Given the description of an element on the screen output the (x, y) to click on. 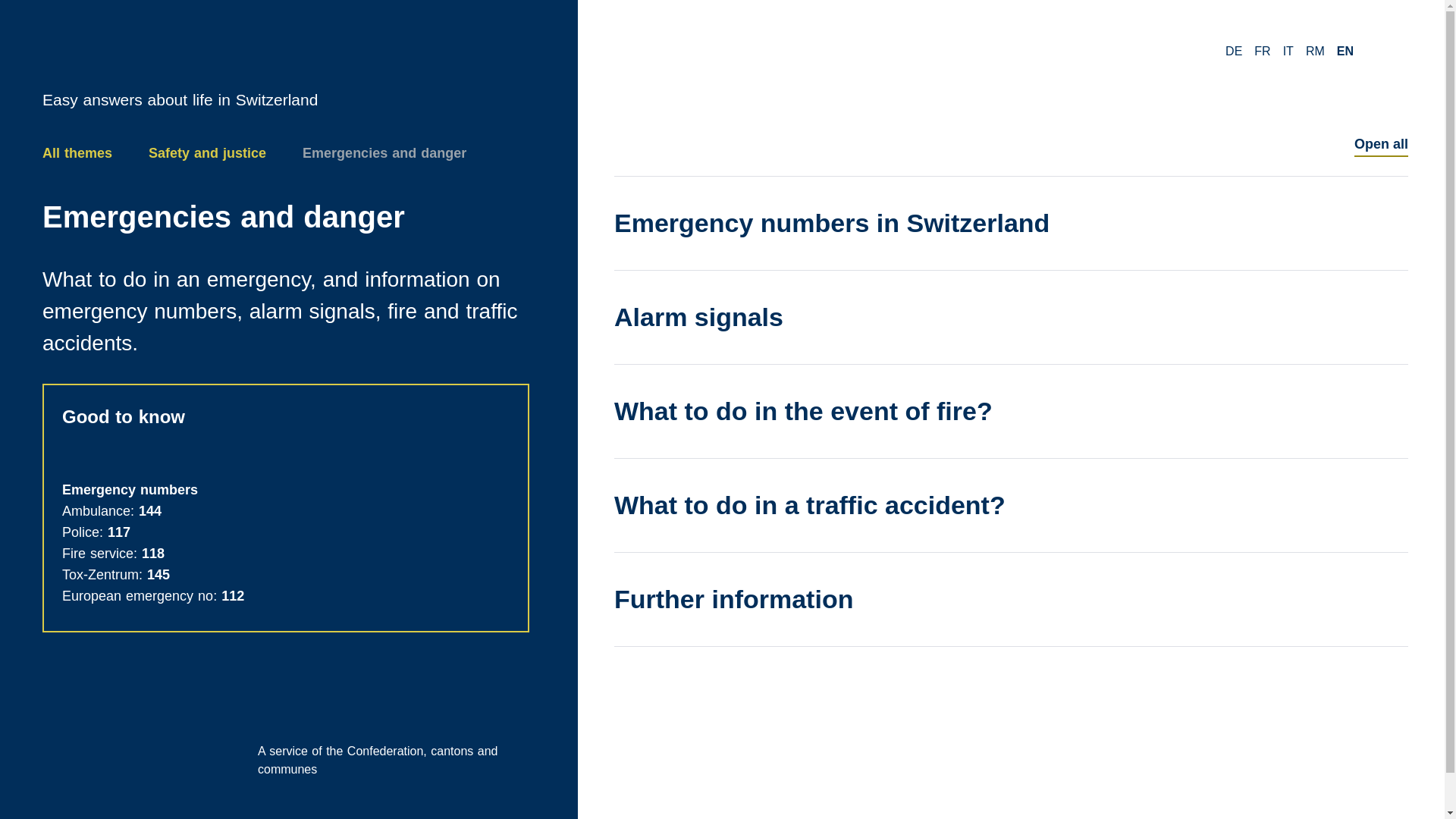
RM (1315, 51)
What to do in the event of fire? (1010, 411)
Further information (1010, 599)
What to do in a traffic accident? (1010, 505)
EN (1345, 51)
Open all (1380, 143)
All themes (77, 152)
FR (1261, 51)
DE (1233, 51)
Back to home ch.ch (285, 74)
Safety and justice (207, 152)
IT (1288, 51)
Alarm signals (1010, 317)
All themes (285, 741)
Easy answers about life in Switzerland (285, 74)
